Given the description of an element on the screen output the (x, y) to click on. 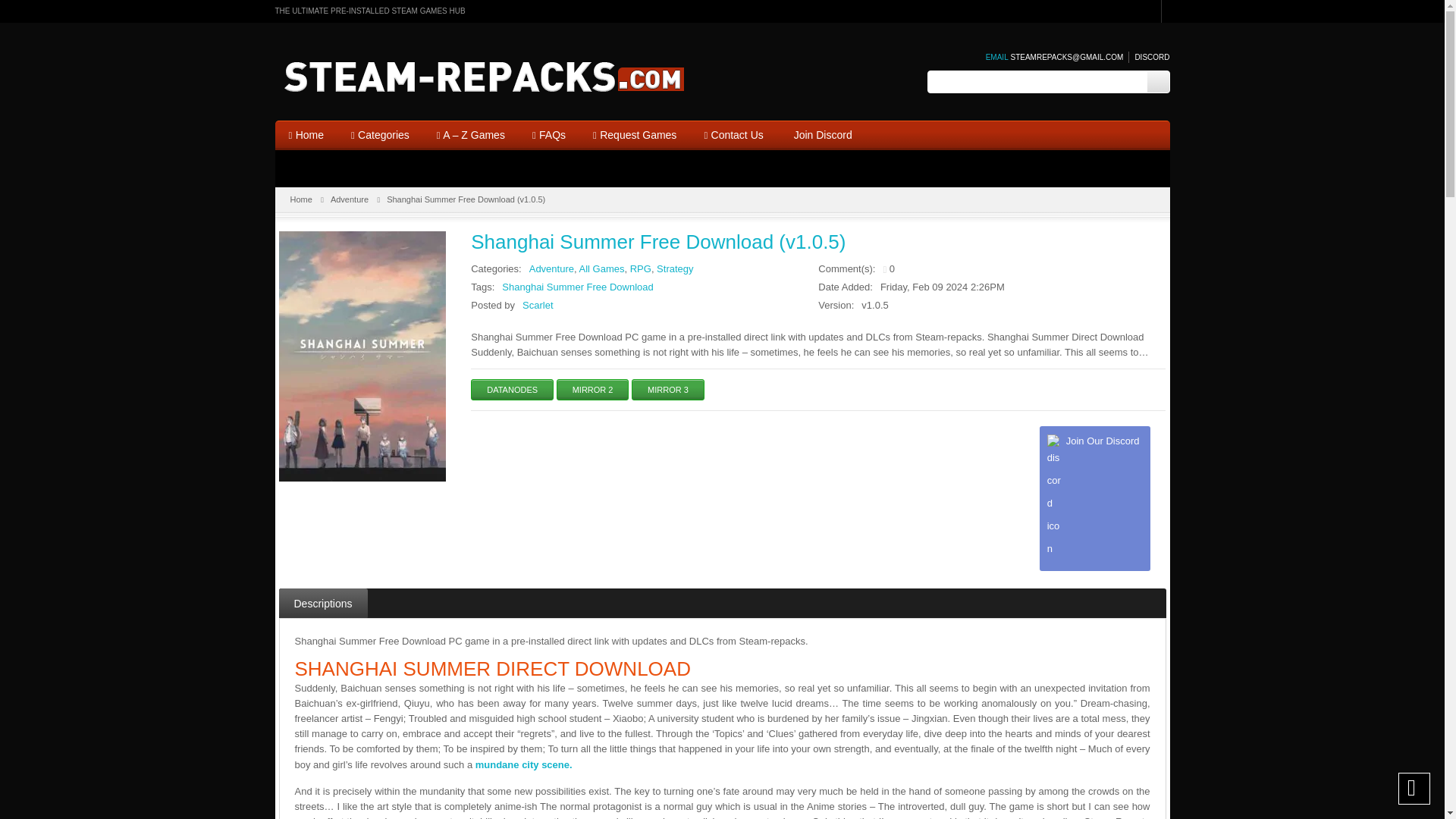
Steam-Repacks (495, 76)
DISCORD (1148, 57)
Search (1158, 81)
Posts by Scarlet (537, 305)
Categories (380, 135)
Home (305, 135)
